Given the description of an element on the screen output the (x, y) to click on. 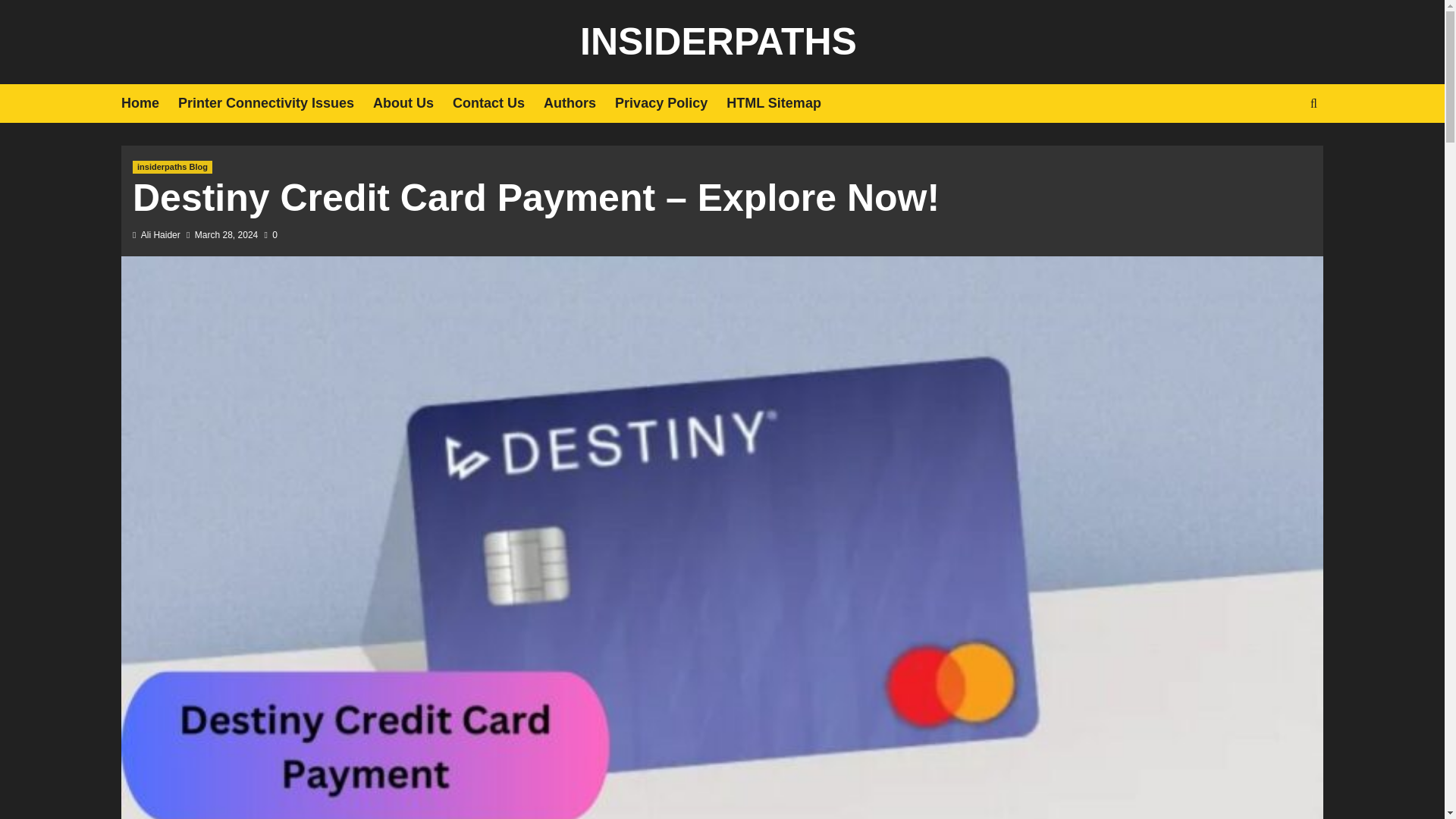
Contact Us (497, 103)
HTML Sitemap (783, 103)
About Us (412, 103)
Home (148, 103)
Printer Connectivity Issues (274, 103)
Authors (578, 103)
INSIDERPATHS (718, 41)
Privacy Policy (670, 103)
Search (1278, 150)
